Given the description of an element on the screen output the (x, y) to click on. 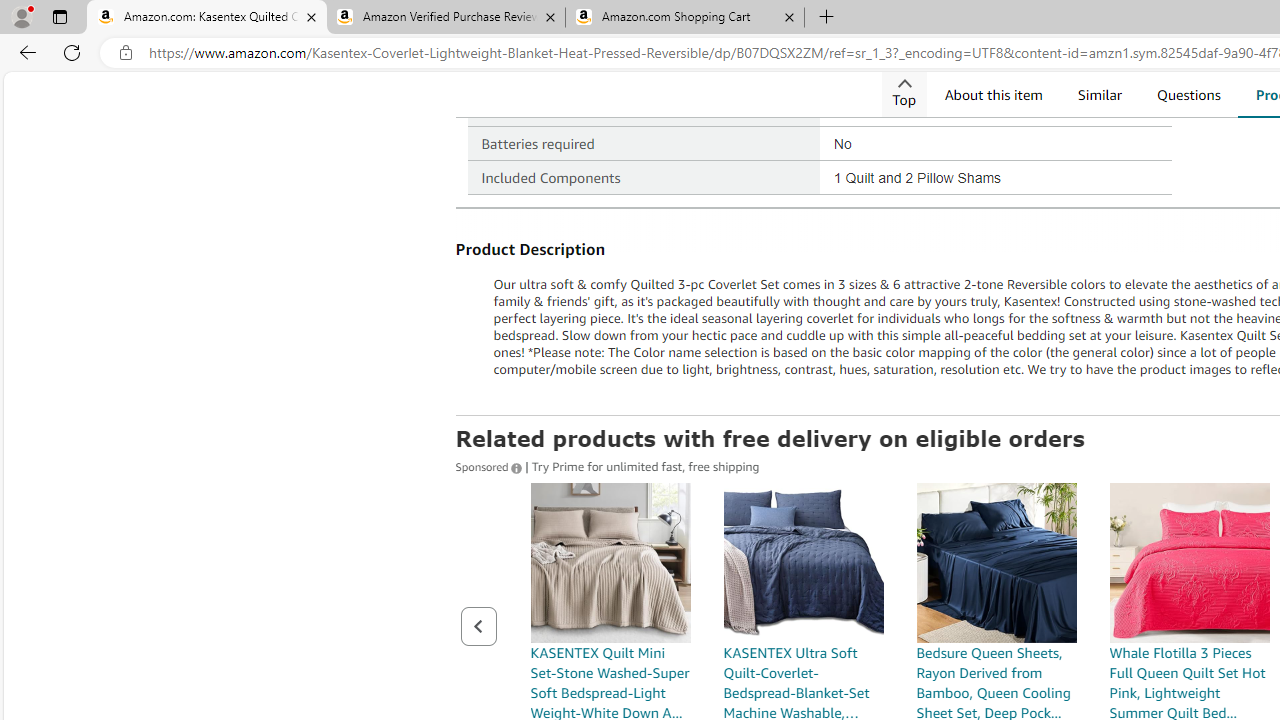
Questions (1188, 94)
